Given the description of an element on the screen output the (x, y) to click on. 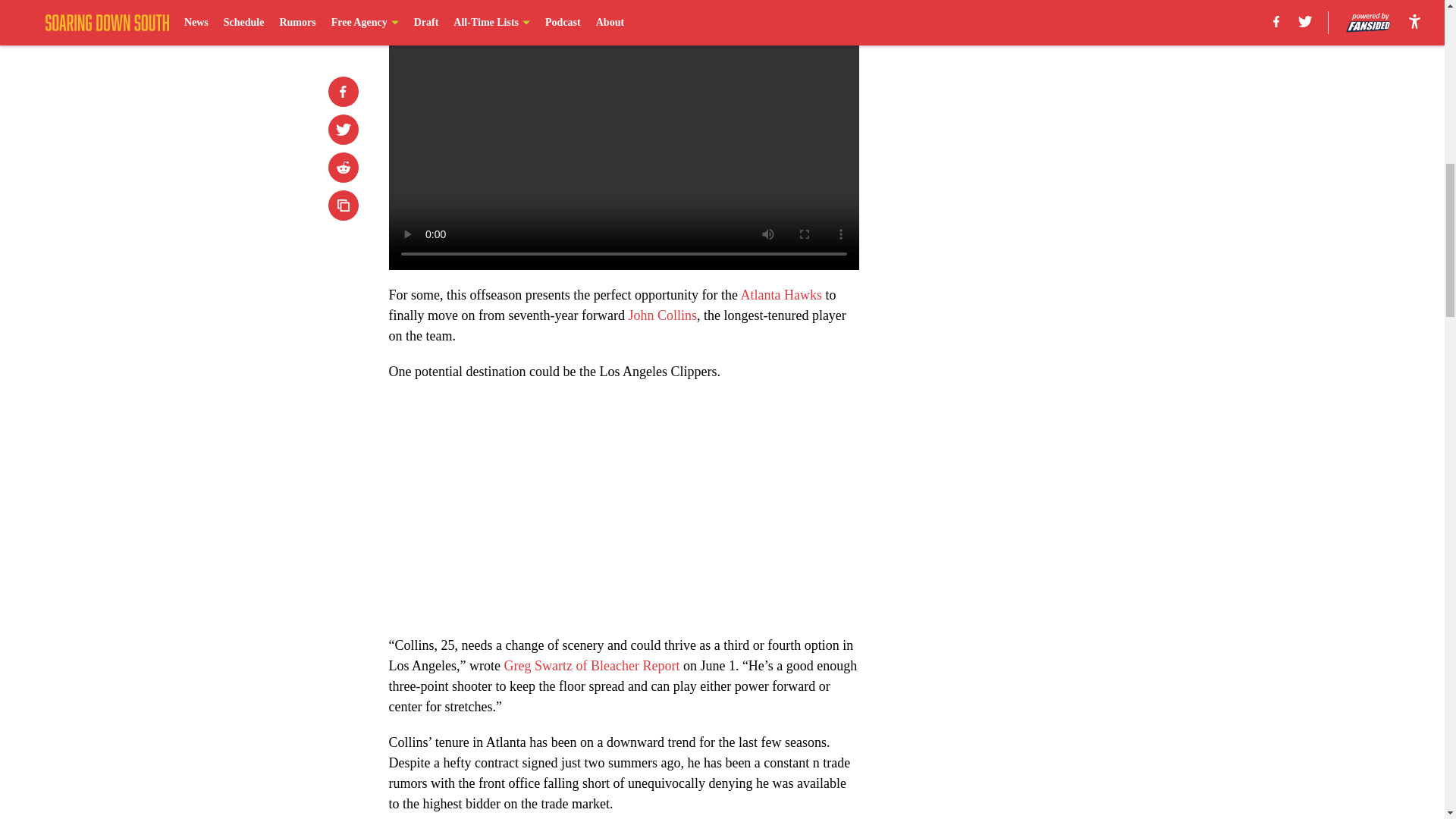
3rd party ad content (1047, 100)
Greg Swartz of Bleacher Report (591, 665)
John Collins (662, 314)
3rd party ad content (1047, 320)
Atlanta Hawks (781, 294)
